Given the description of an element on the screen output the (x, y) to click on. 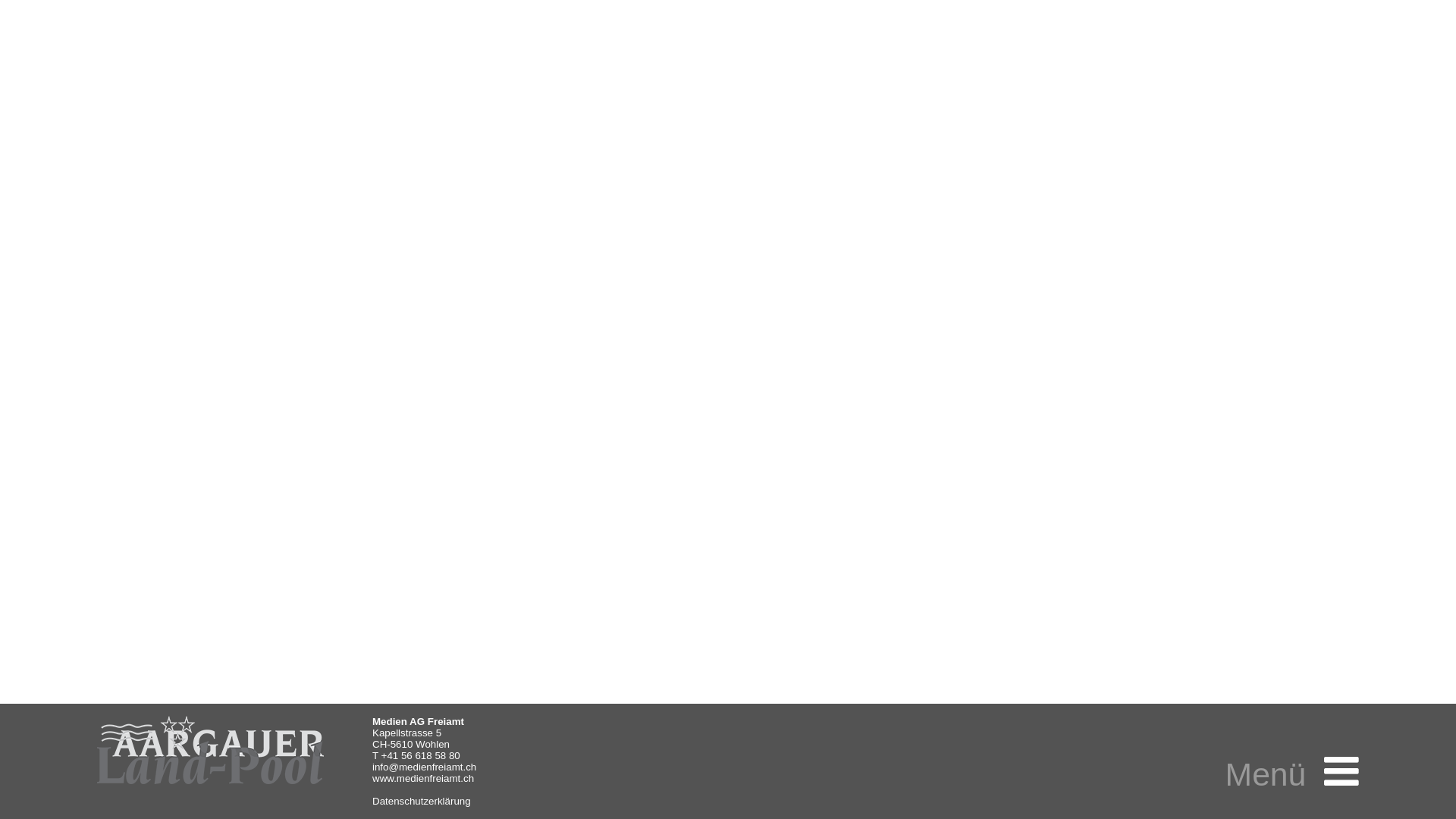
www.medienfreiamt.ch Element type: text (422, 778)
info@medienfreiamt.ch Element type: text (424, 766)
